Given the description of an element on the screen output the (x, y) to click on. 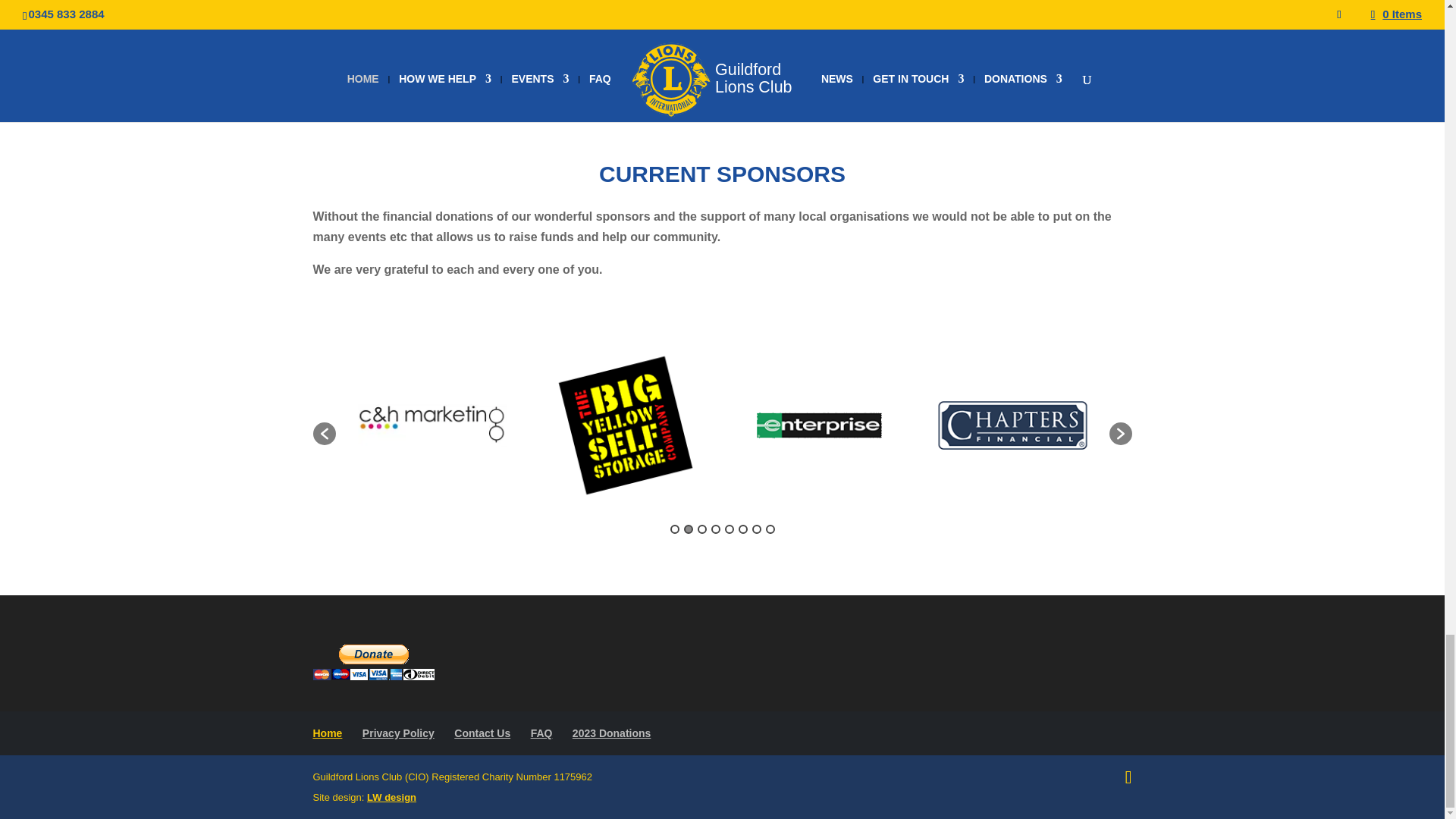
PayPal - The safer, easier way to pay online! (373, 662)
